Given the description of an element on the screen output the (x, y) to click on. 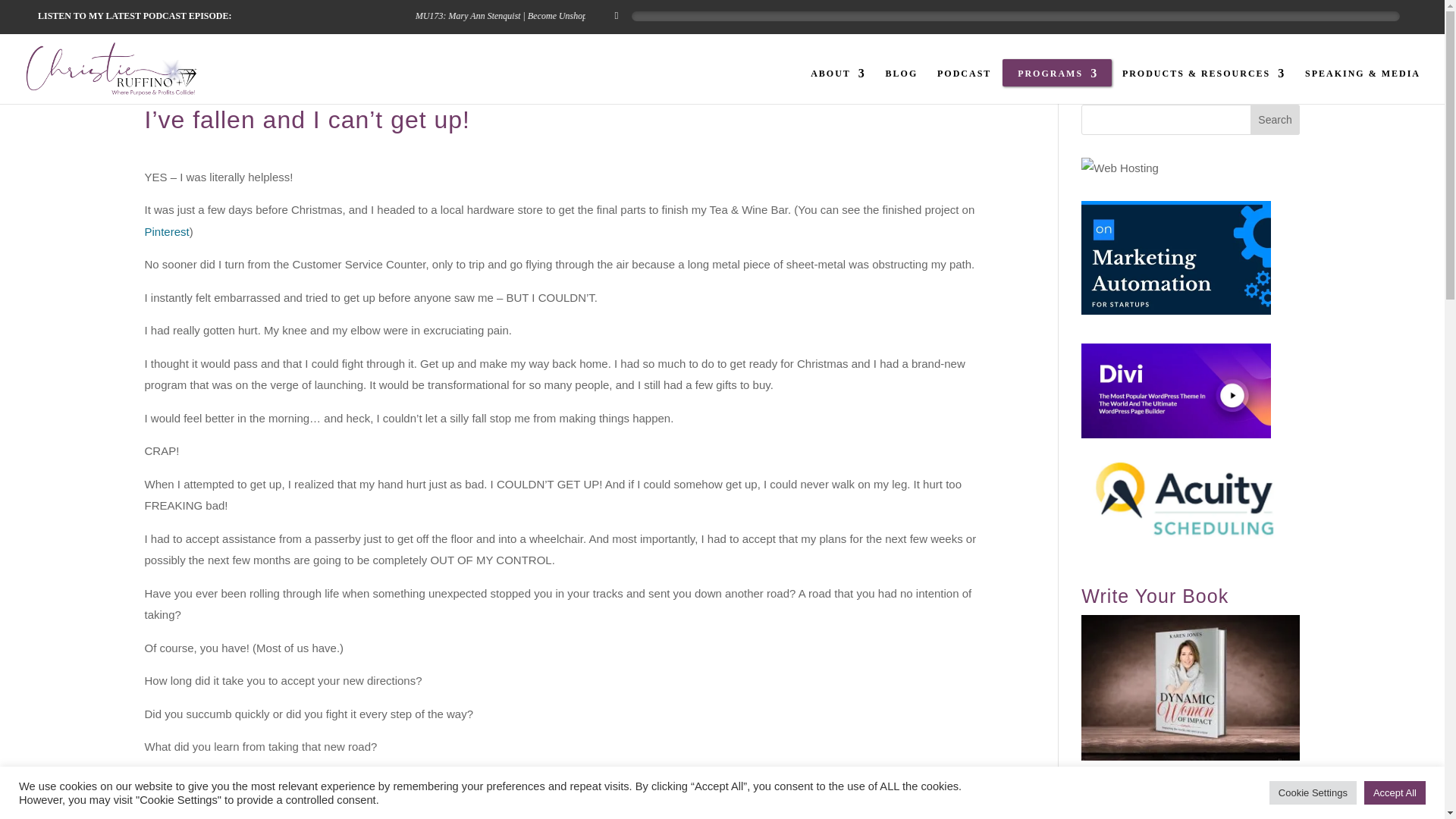
ABOUT (838, 85)
PROGRAMS (1057, 85)
Play (616, 15)
PODCAST (964, 85)
Search (1275, 119)
BLOG (901, 85)
